Given the description of an element on the screen output the (x, y) to click on. 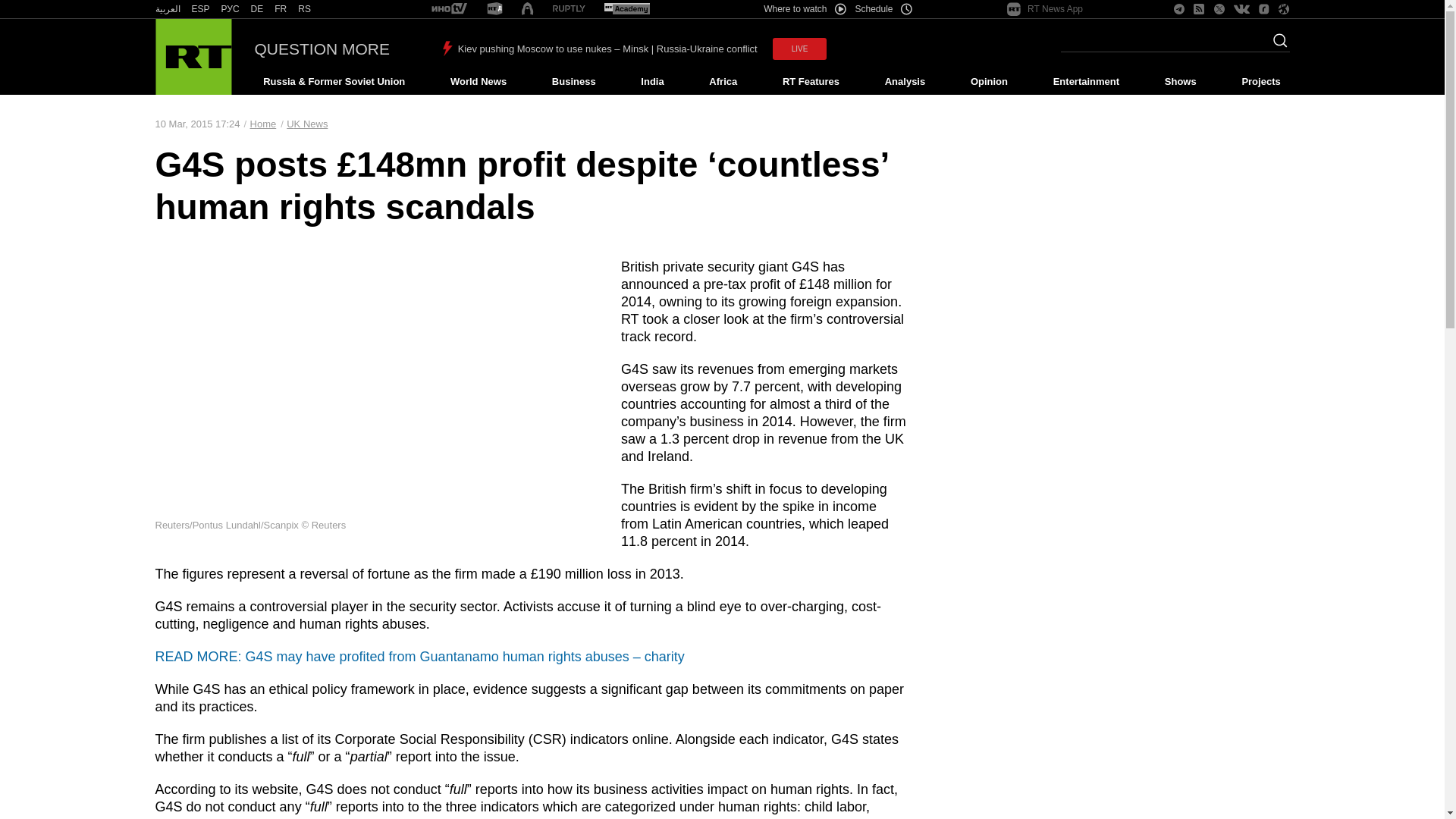
FR (280, 9)
Business (573, 81)
ESP (199, 9)
Search (1276, 44)
DE (256, 9)
QUESTION MORE (322, 48)
RT  (199, 9)
RS (304, 9)
RT  (256, 9)
Search (1276, 44)
